Given the description of an element on the screen output the (x, y) to click on. 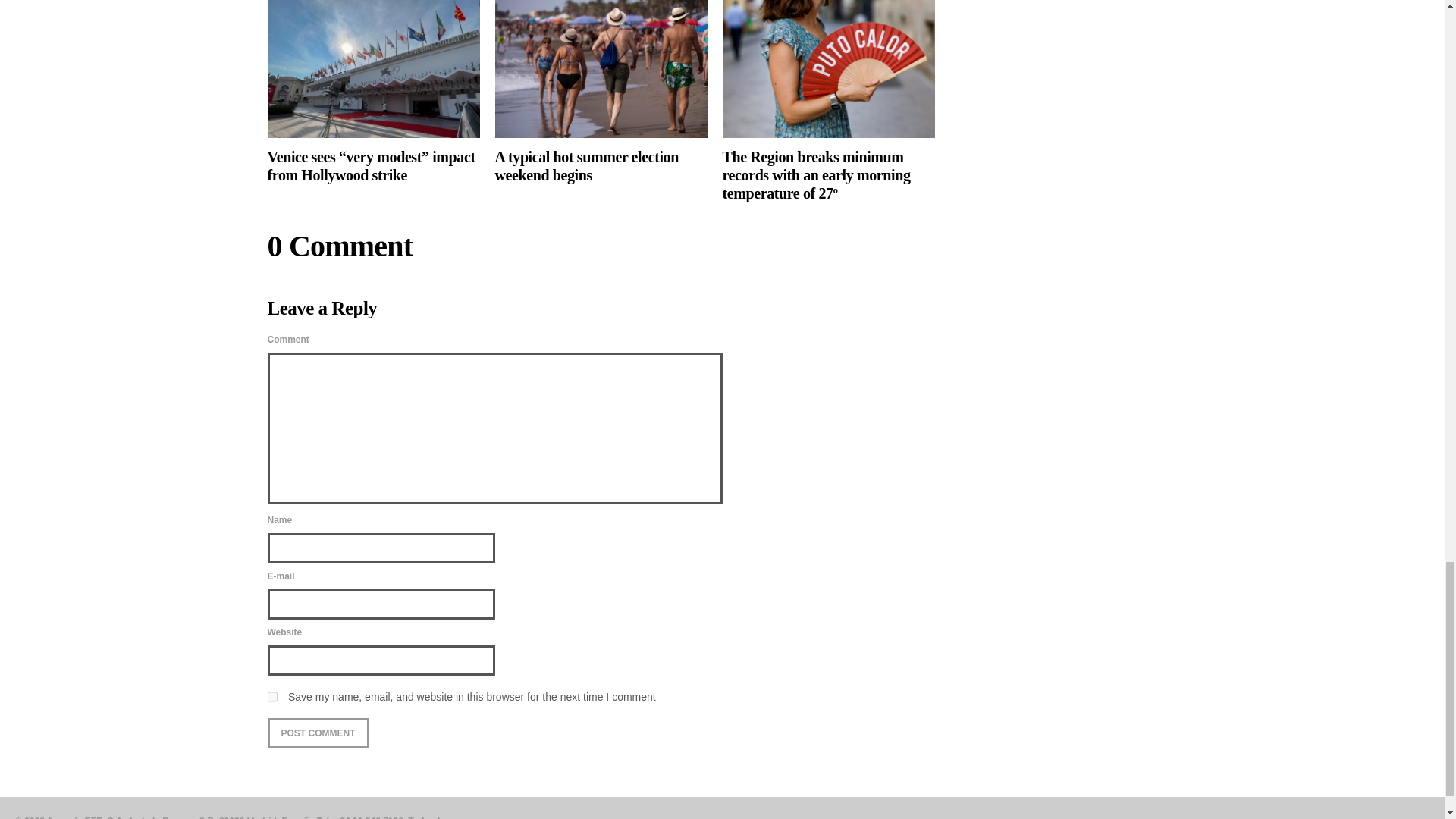
POST COMMENT (317, 733)
POST COMMENT (317, 733)
A typical hot summer election weekend begins (600, 92)
